Given the description of an element on the screen output the (x, y) to click on. 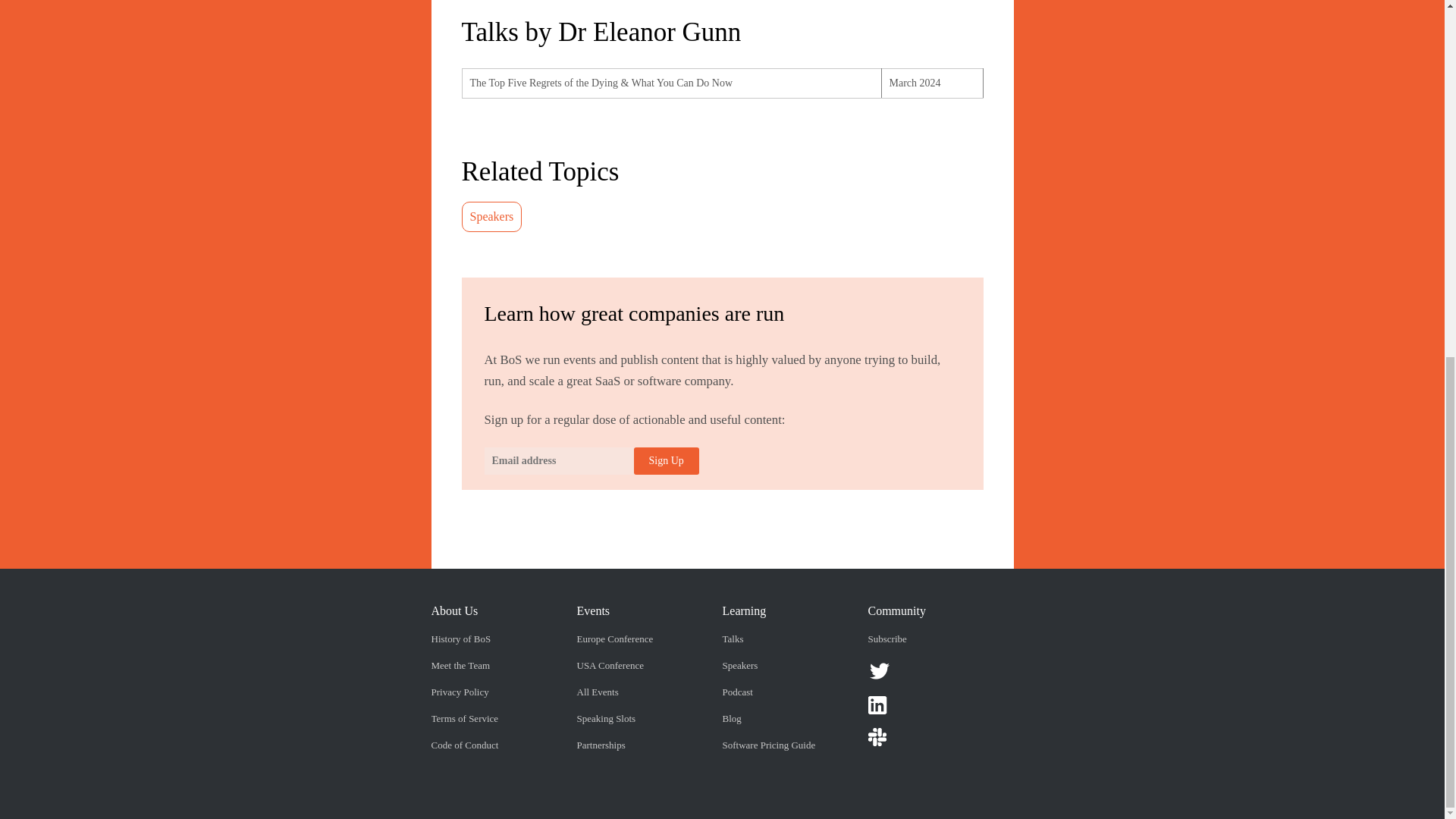
Speaking Slots (605, 717)
Blog (731, 717)
Europe Conference (614, 638)
History of BoS (460, 638)
Podcast (737, 691)
Sign Up (665, 461)
Privacy Policy (458, 691)
Software Pricing Guide (768, 745)
Speakers (739, 665)
Speakers (491, 215)
